Given the description of an element on the screen output the (x, y) to click on. 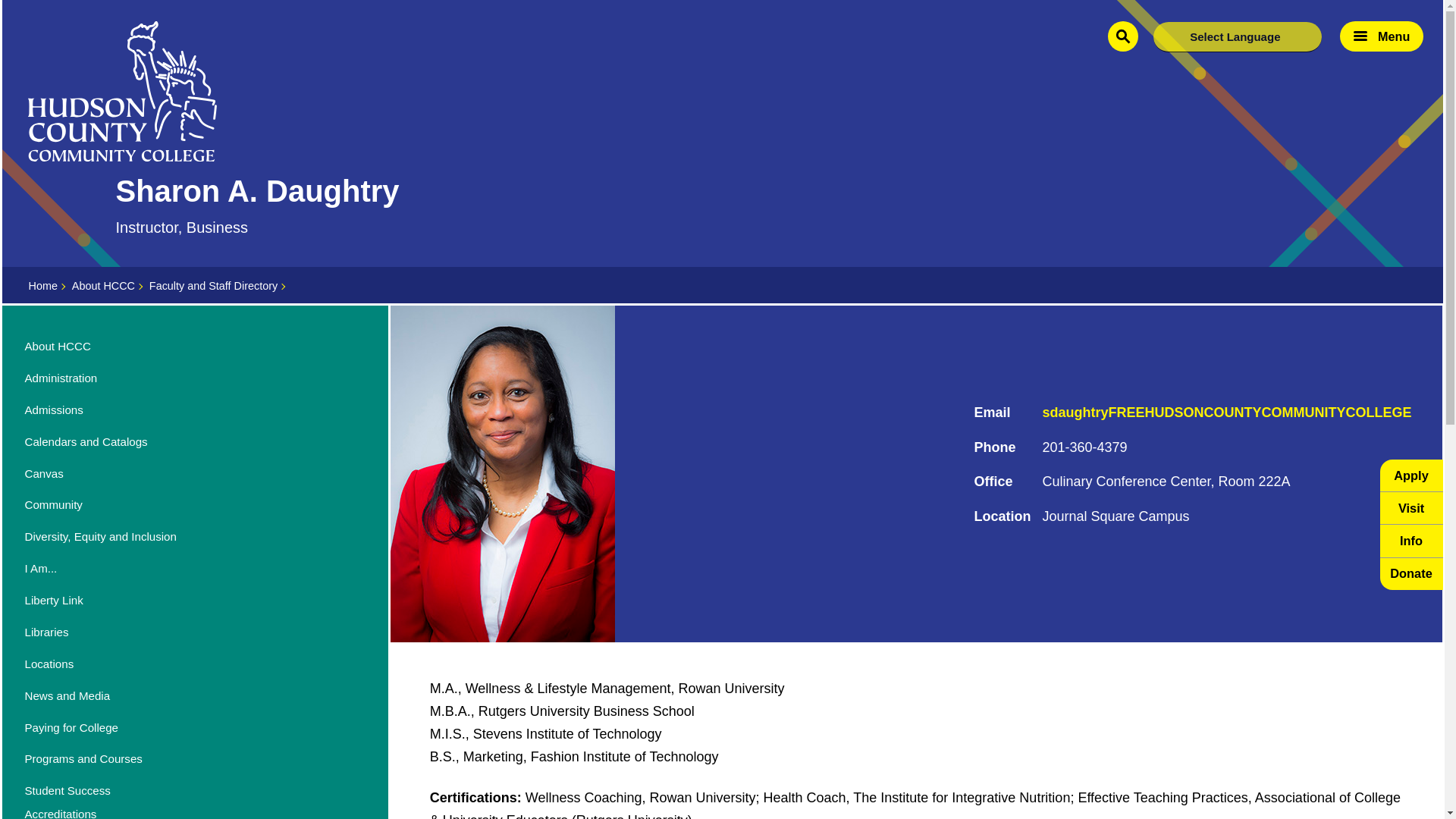
Menu (1381, 36)
search (1123, 36)
Hudson County Community College Logo (121, 91)
